Given the description of an element on the screen output the (x, y) to click on. 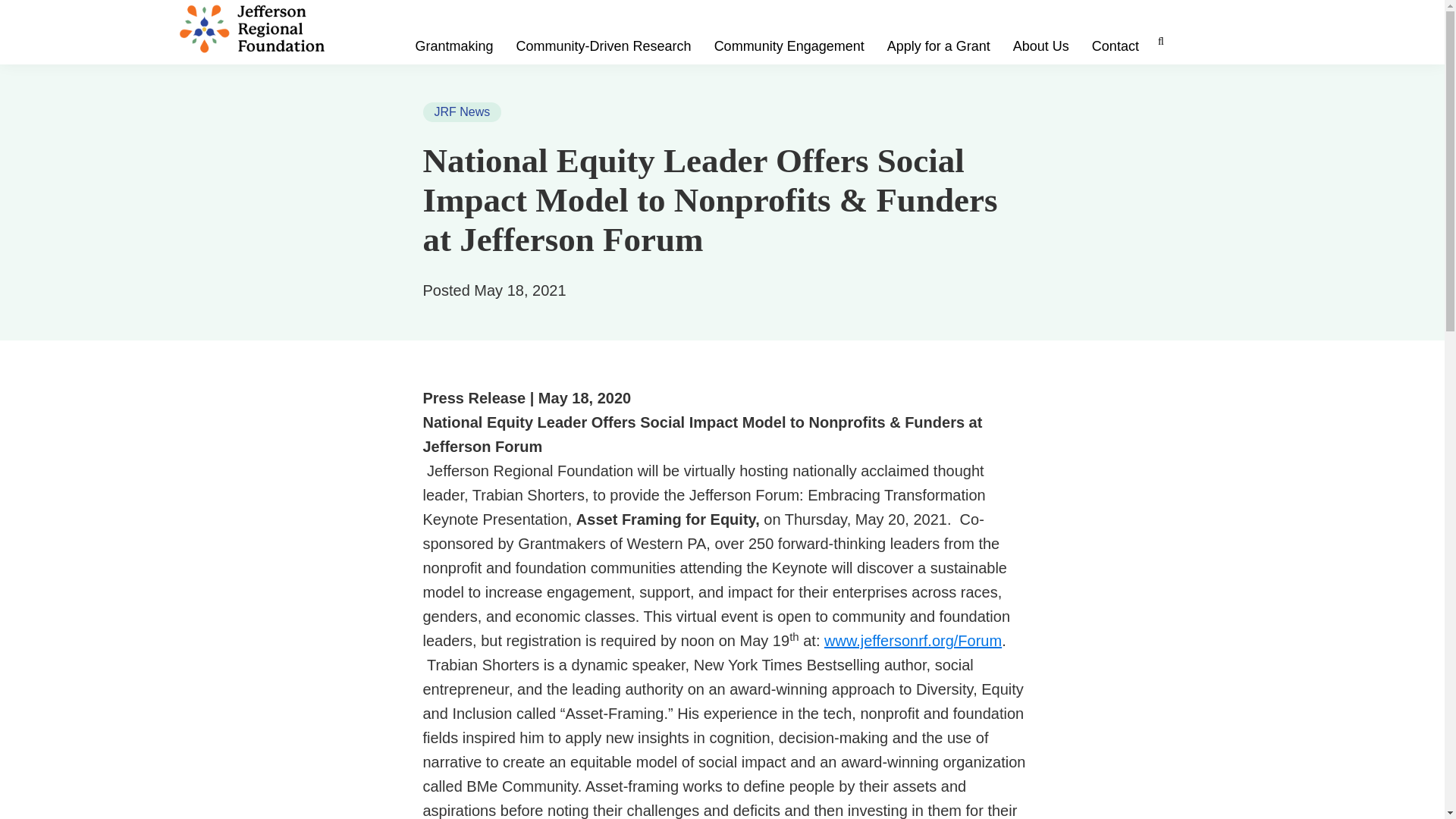
About Us (1040, 45)
Community Engagement (789, 45)
Contact (1115, 45)
Grantmaking (453, 45)
Apply for a Grant (938, 45)
Community-Driven Research (603, 45)
